Given the description of an element on the screen output the (x, y) to click on. 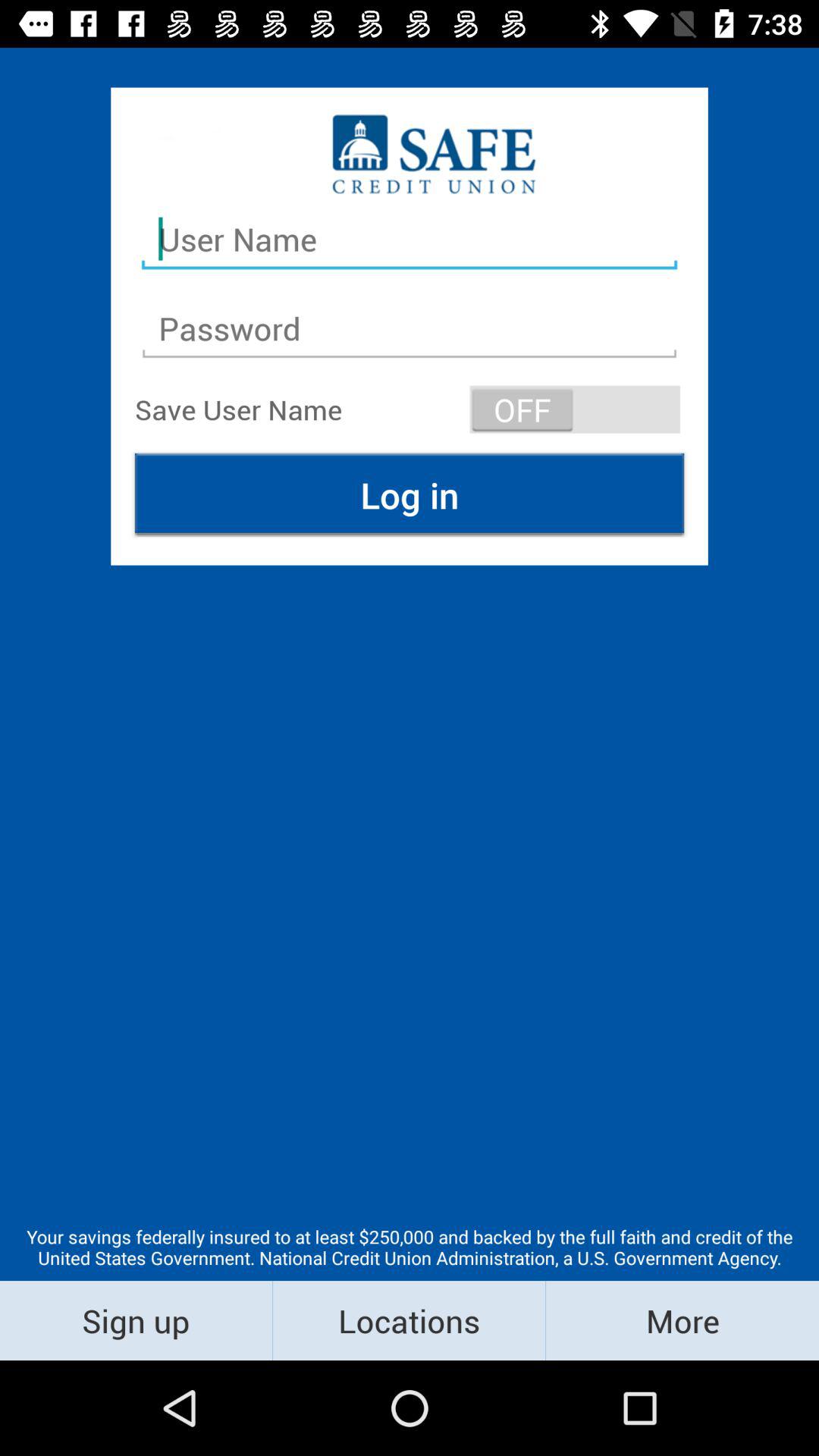
jump to more item (682, 1320)
